Given the description of an element on the screen output the (x, y) to click on. 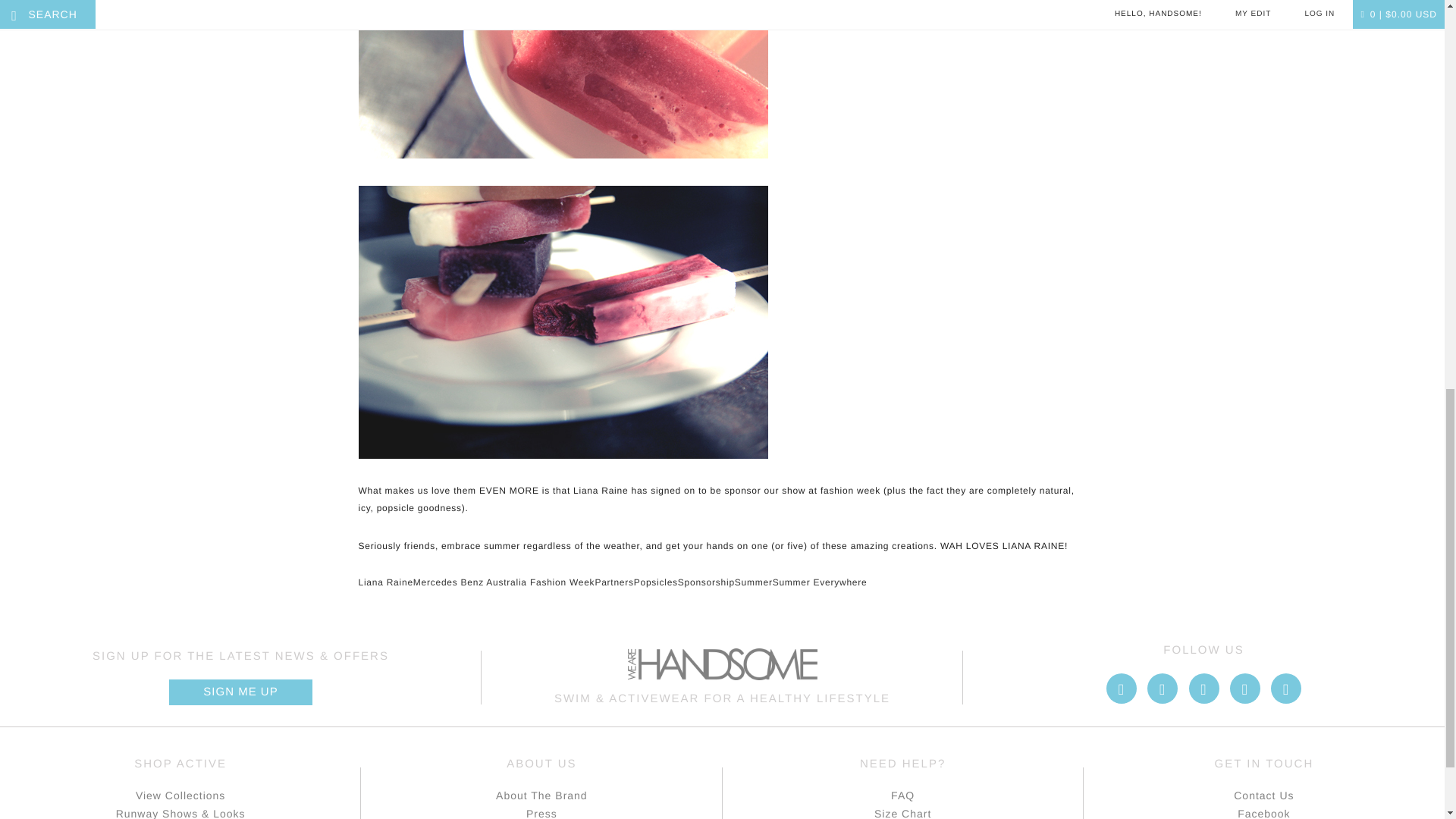
Summer Everywhere (820, 582)
Mercedes Benz Australia Fashion Week (504, 582)
Sponsorship (706, 582)
Partners (613, 582)
SIGN ME UP (239, 692)
View Collections (180, 795)
Popsicles (655, 582)
Summer (754, 582)
About The Brand (540, 795)
Liana Raine (385, 582)
